Given the description of an element on the screen output the (x, y) to click on. 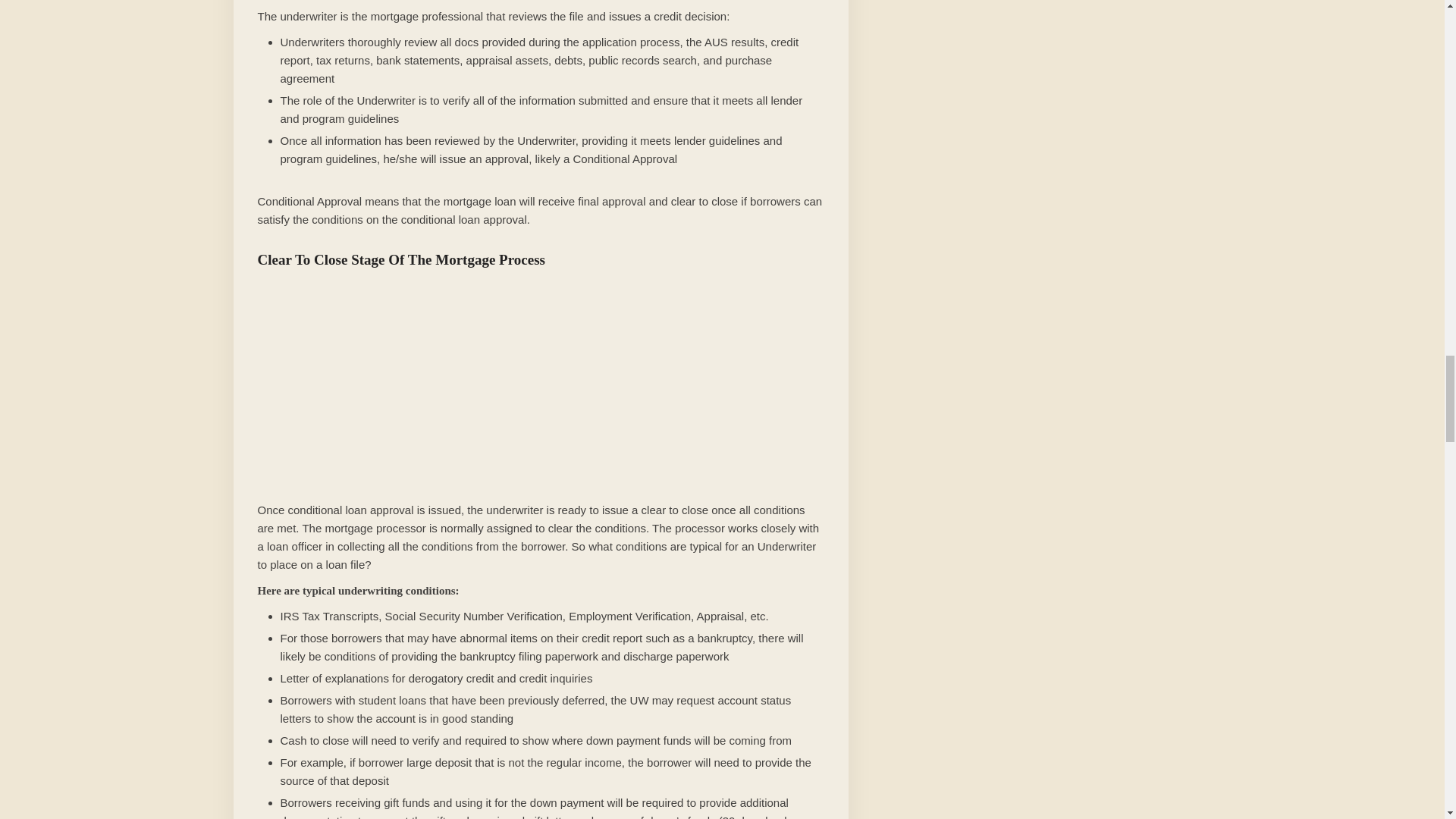
Steps In The Underwriting Process By Mortgage Lenders 3 (541, 384)
